Given the description of an element on the screen output the (x, y) to click on. 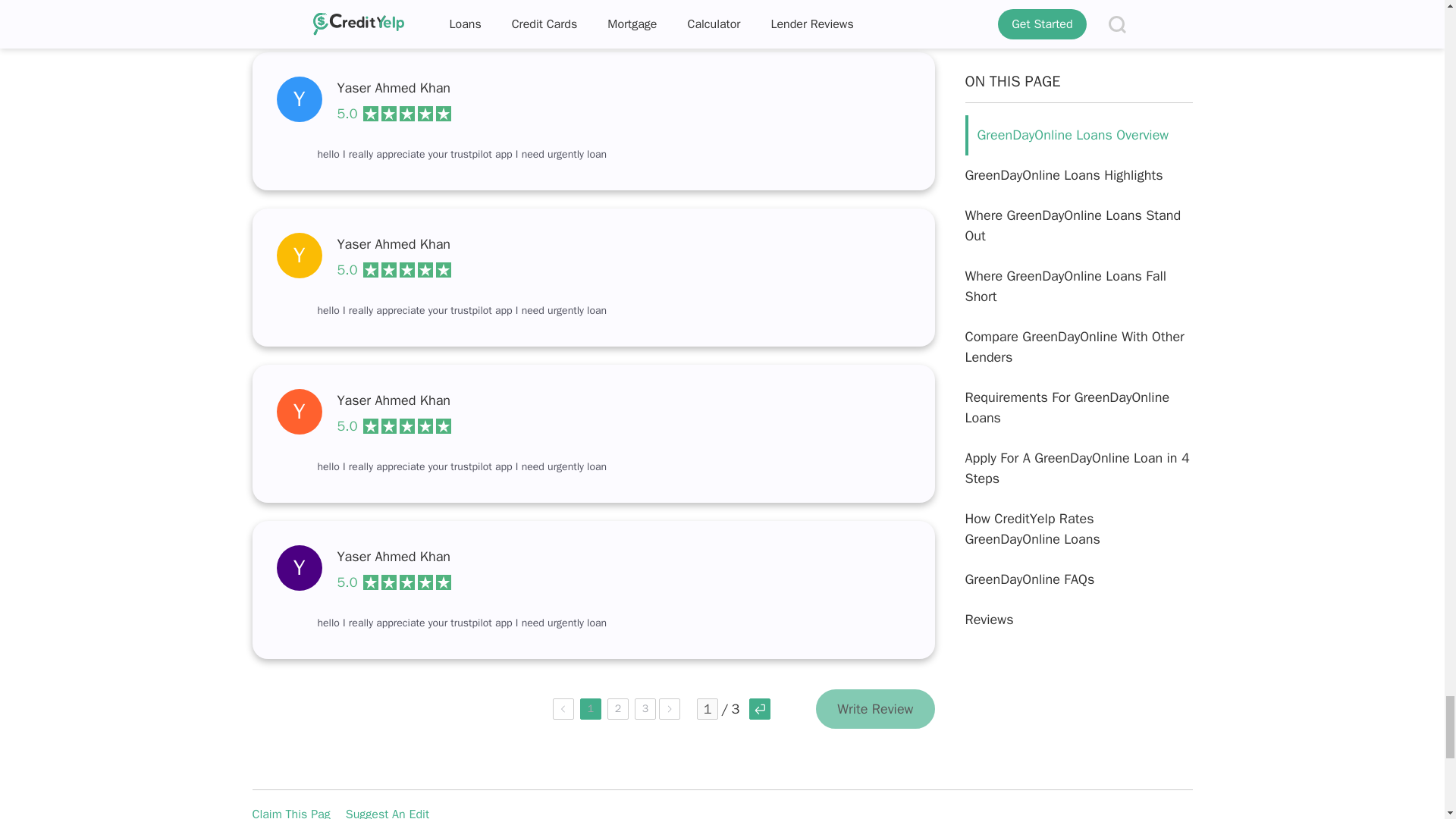
1 (707, 708)
